Given the description of an element on the screen output the (x, y) to click on. 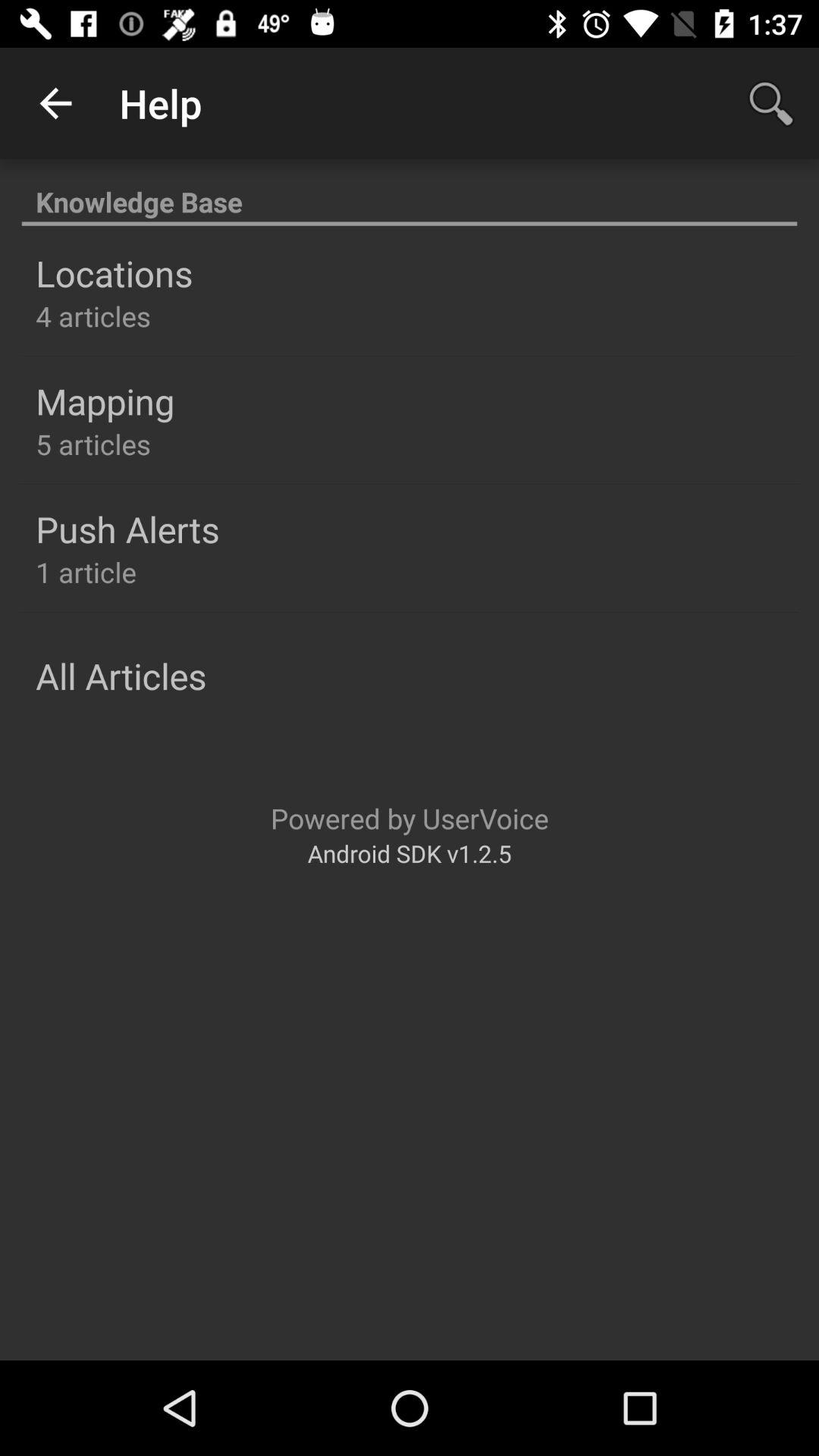
click the icon to the right of the help (771, 103)
